Given the description of an element on the screen output the (x, y) to click on. 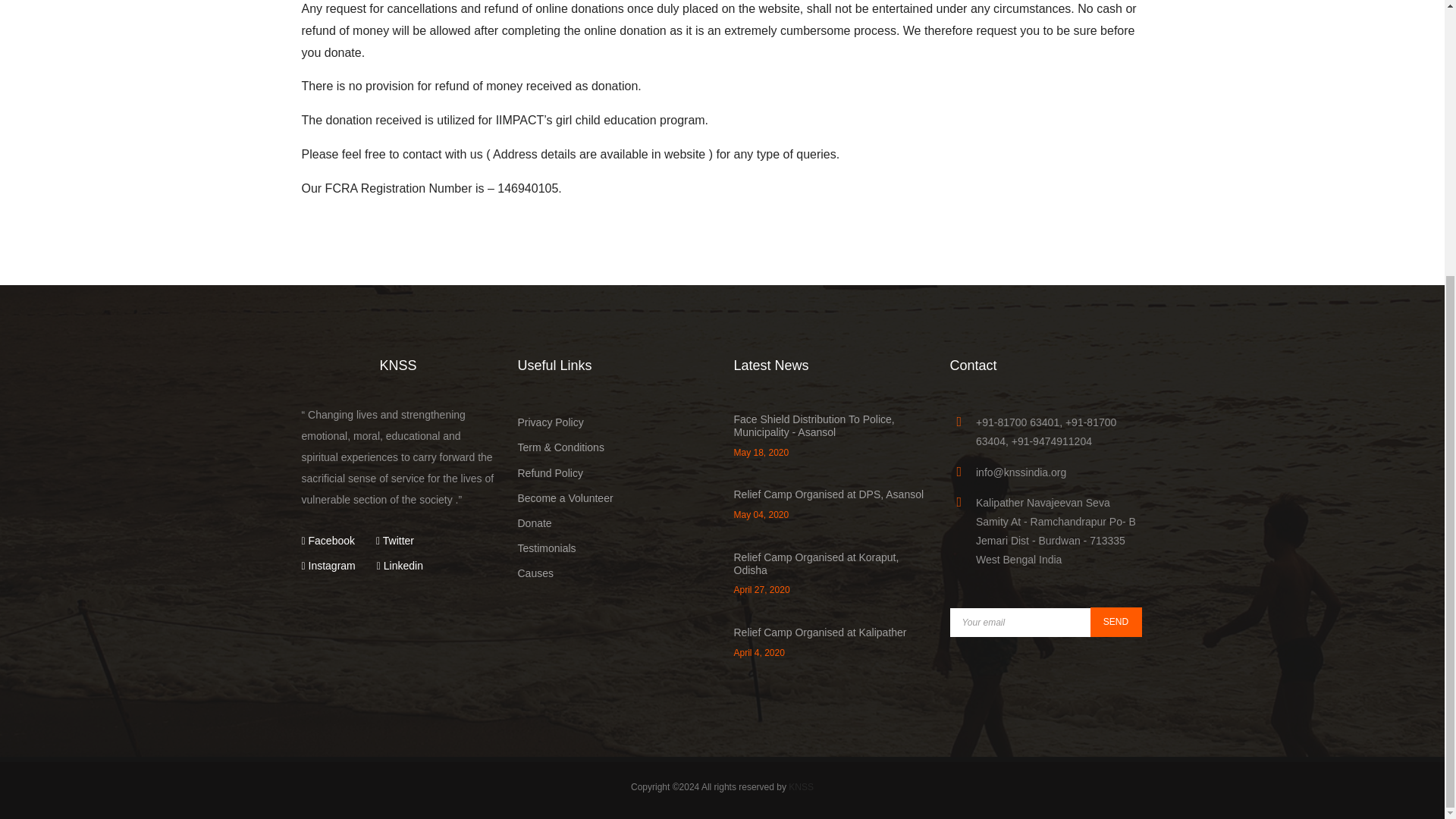
Relief Camp Organised at DPS, Asansol (828, 494)
send (1115, 622)
Refund Policy (549, 472)
Linkedin (400, 565)
send (1115, 622)
Facebook (328, 540)
Privacy Policy (549, 422)
Face Shield Distribution To Police, Municipality - Asansol (814, 425)
Instagram (328, 565)
Twitter (394, 540)
Relief Camp Organised at Koraput, Odisha (816, 563)
Become a Volunteer (564, 498)
Donate (533, 522)
Testimonials (545, 548)
Relief Camp Organised at Kalipather (820, 632)
